Given the description of an element on the screen output the (x, y) to click on. 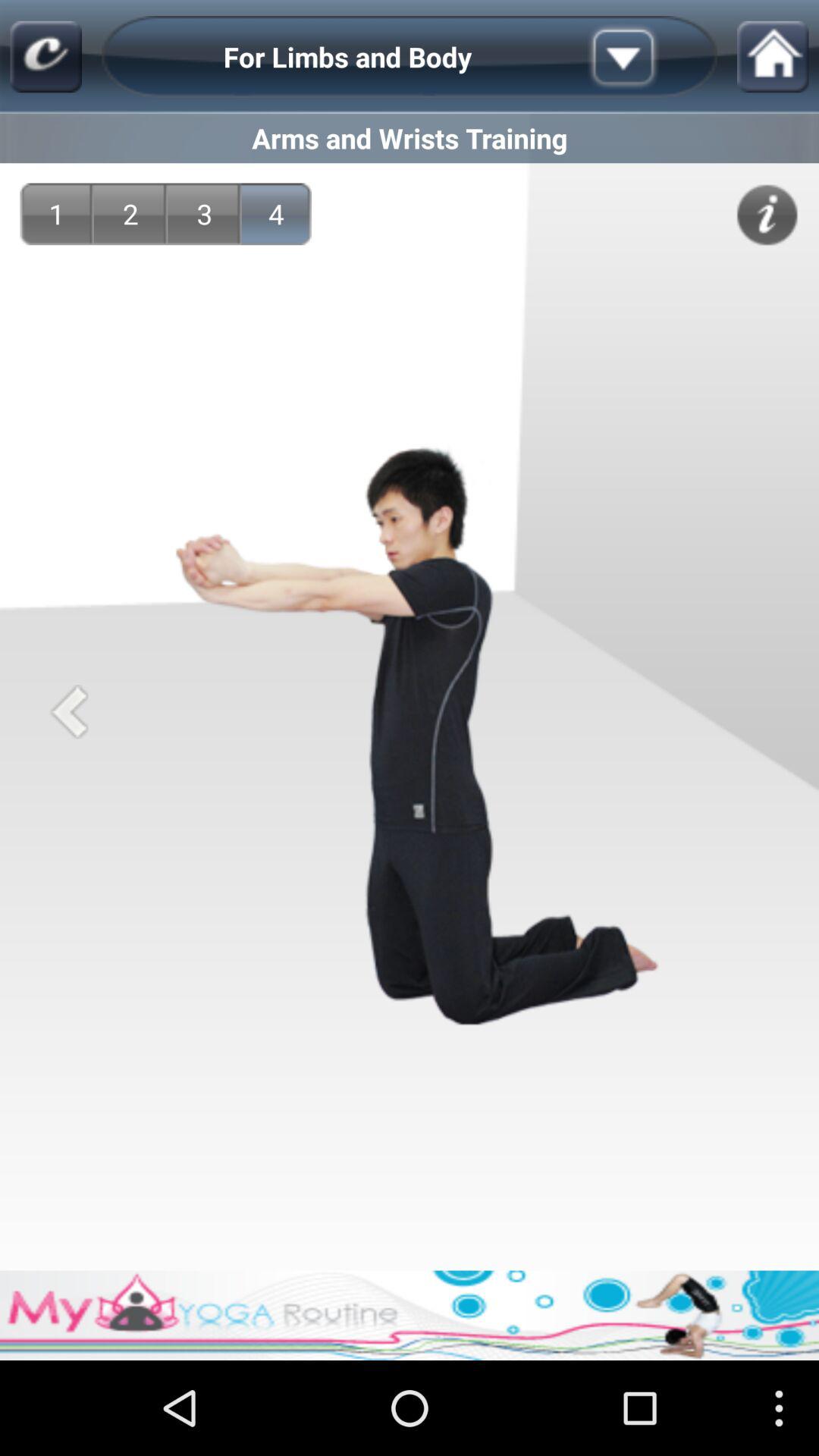
go back to prior item option (68, 711)
